Given the description of an element on the screen output the (x, y) to click on. 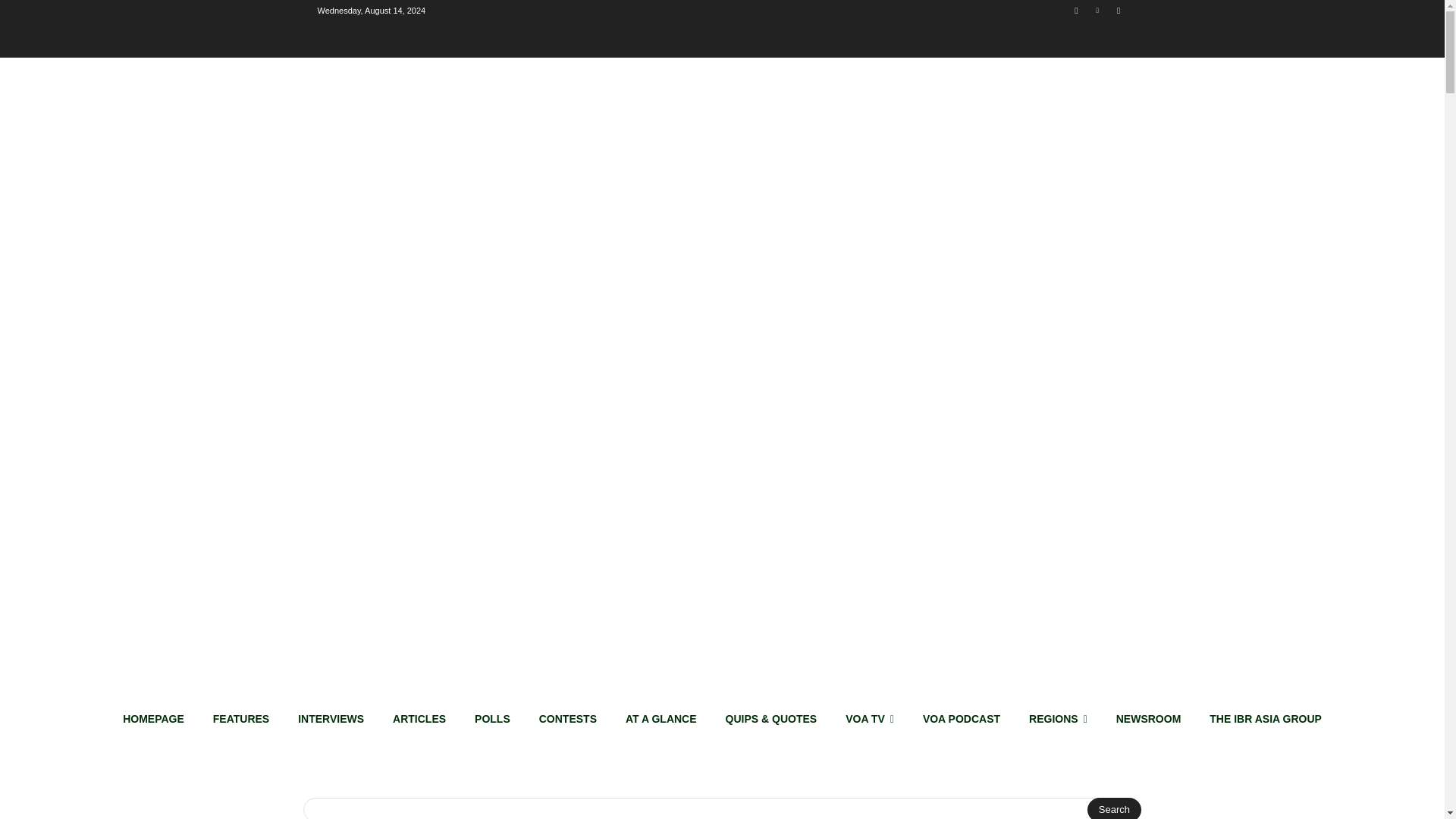
Facebook (1075, 9)
Twitter (1117, 9)
Linkedin (1097, 9)
